Given the description of an element on the screen output the (x, y) to click on. 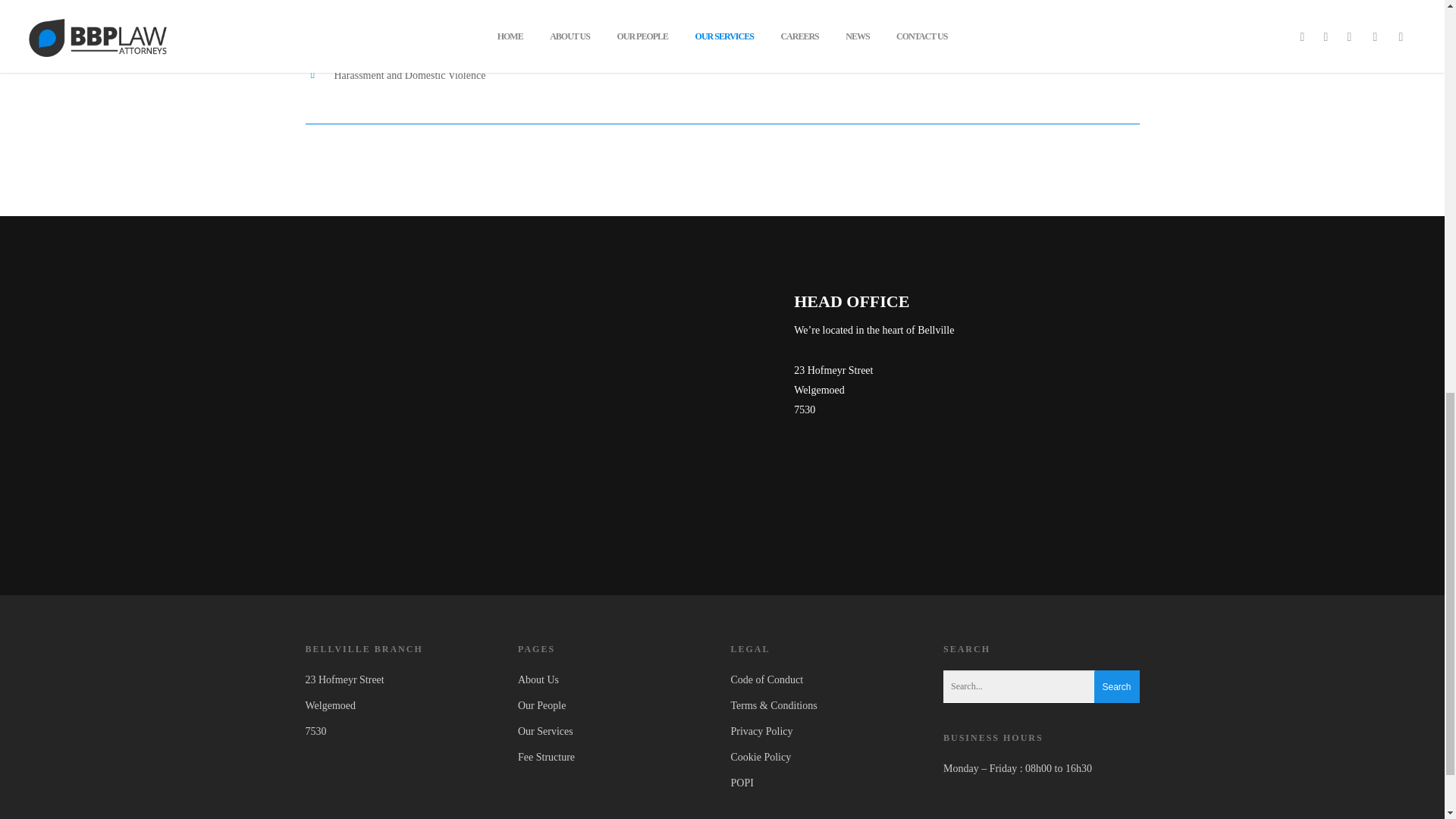
Search (1116, 687)
Search (1116, 687)
Search for: (1041, 686)
